Given the description of an element on the screen output the (x, y) to click on. 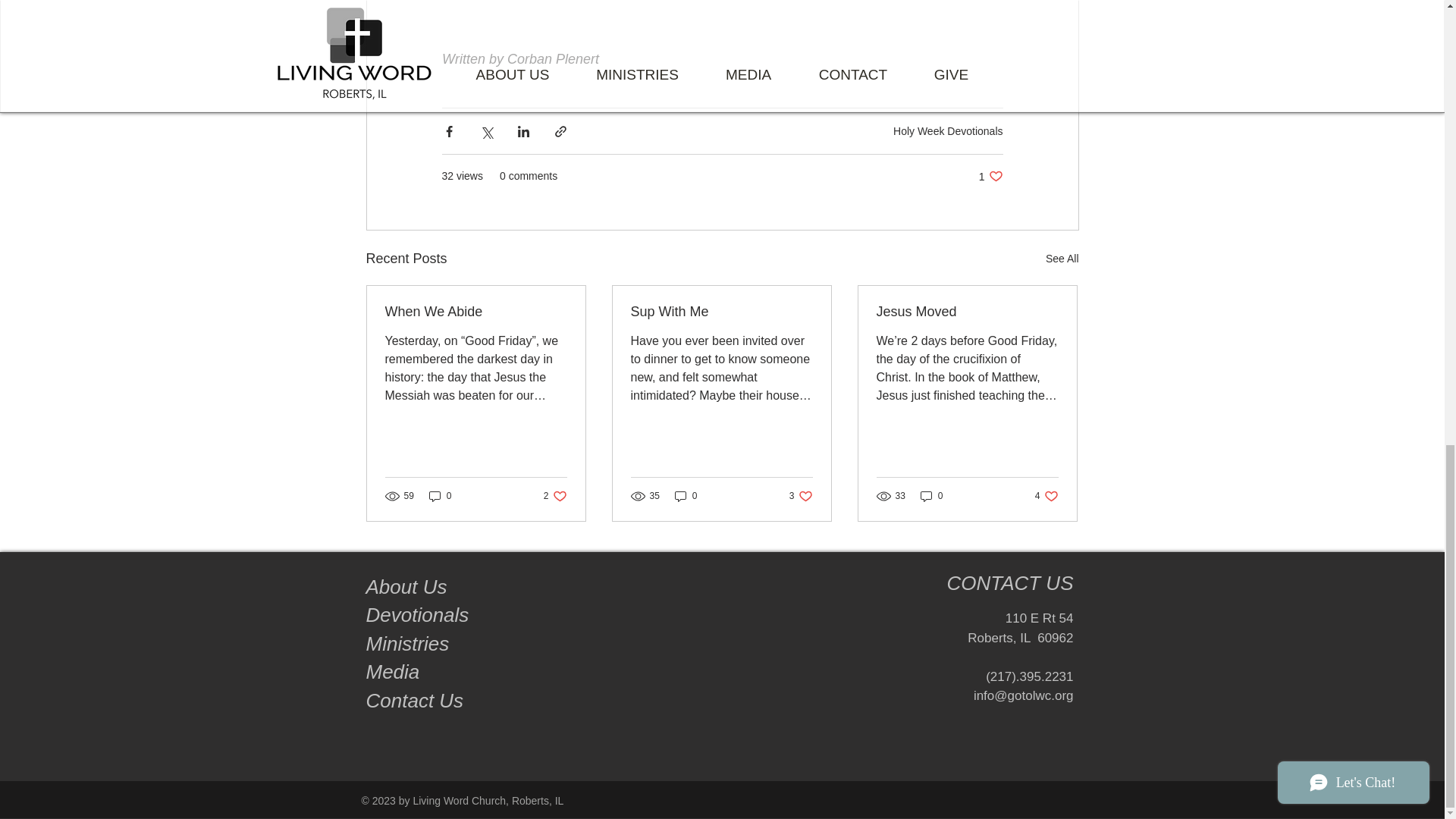
When We Abide (476, 311)
0 (990, 175)
Jesus Moved (440, 495)
See All (967, 311)
Devotionals  (1061, 259)
Media (419, 614)
Holy Week Devotionals (392, 671)
0 (948, 130)
About Us (931, 495)
0 (1046, 495)
Ministries (405, 586)
Sup With Me (685, 495)
